Given the description of an element on the screen output the (x, y) to click on. 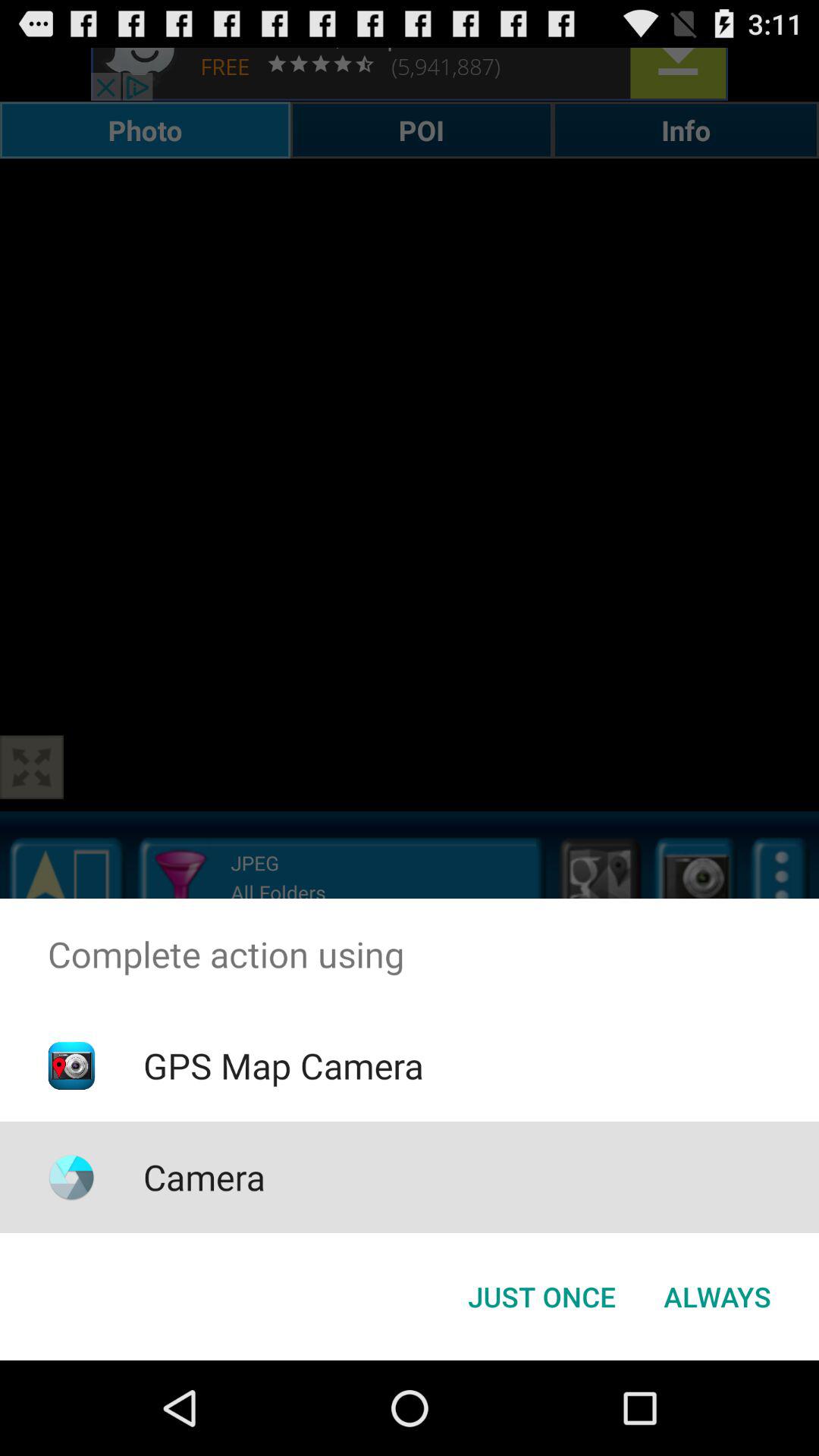
open the app below the complete action using item (717, 1296)
